Given the description of an element on the screen output the (x, y) to click on. 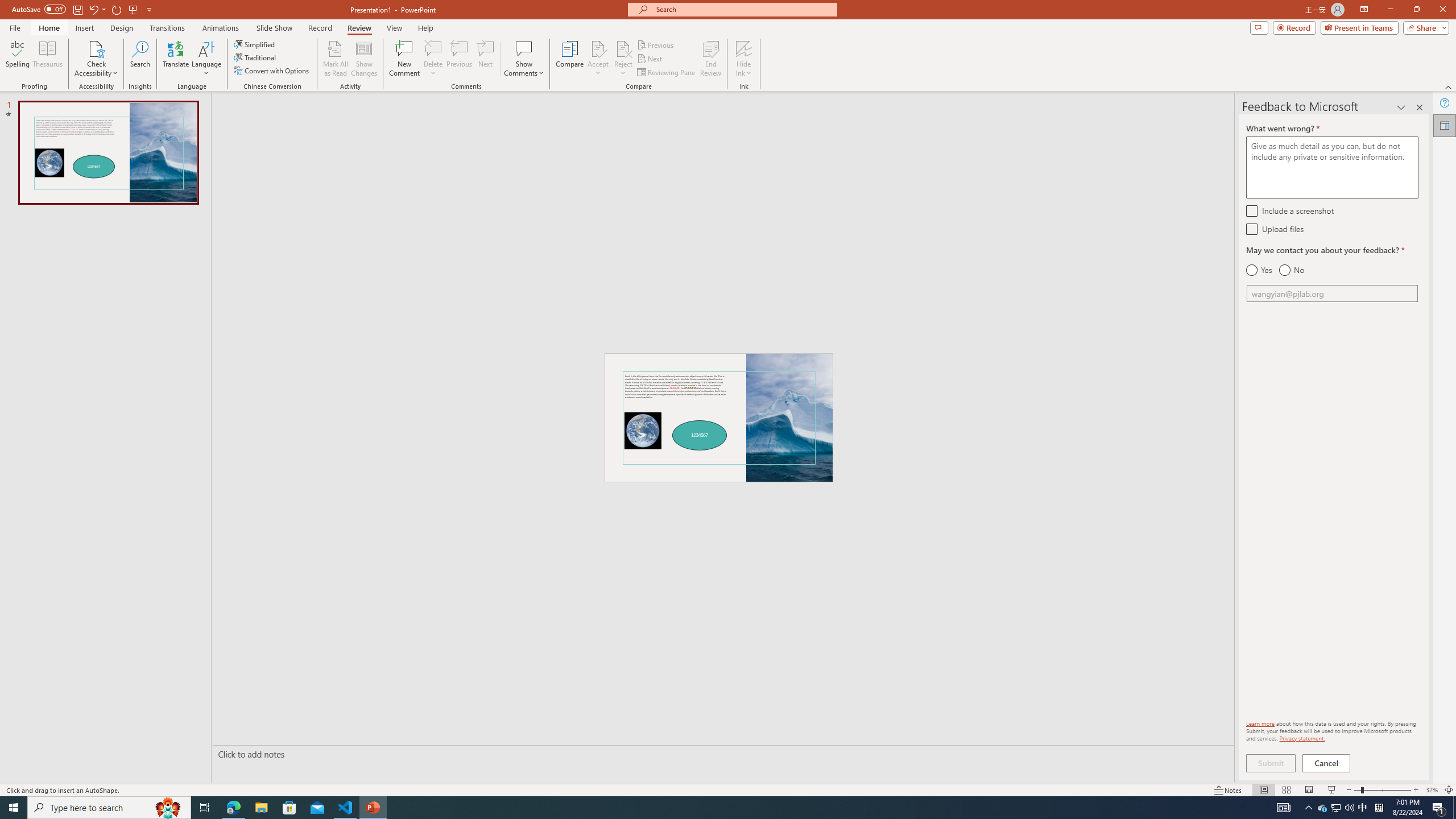
No (1291, 269)
Close pane (1419, 107)
Submit (1270, 763)
Next (649, 58)
Restore Down (1416, 9)
New Comment (403, 58)
Spelling... (17, 58)
Accept (598, 58)
